Given the description of an element on the screen output the (x, y) to click on. 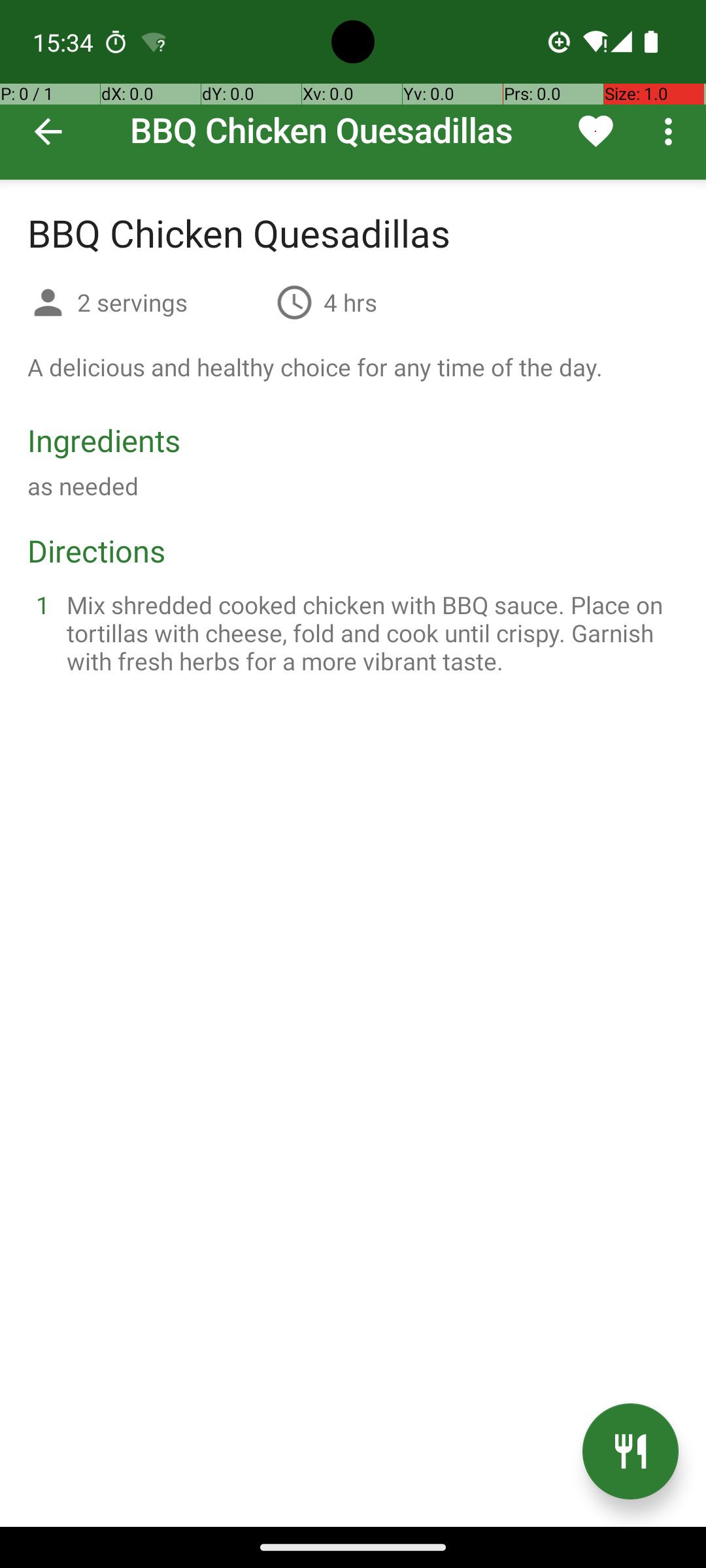
Mix shredded cooked chicken with BBQ sauce. Place on tortillas with cheese, fold and cook until crispy. Garnish with fresh herbs for a more vibrant taste. Element type: android.widget.TextView (368, 632)
